Given the description of an element on the screen output the (x, y) to click on. 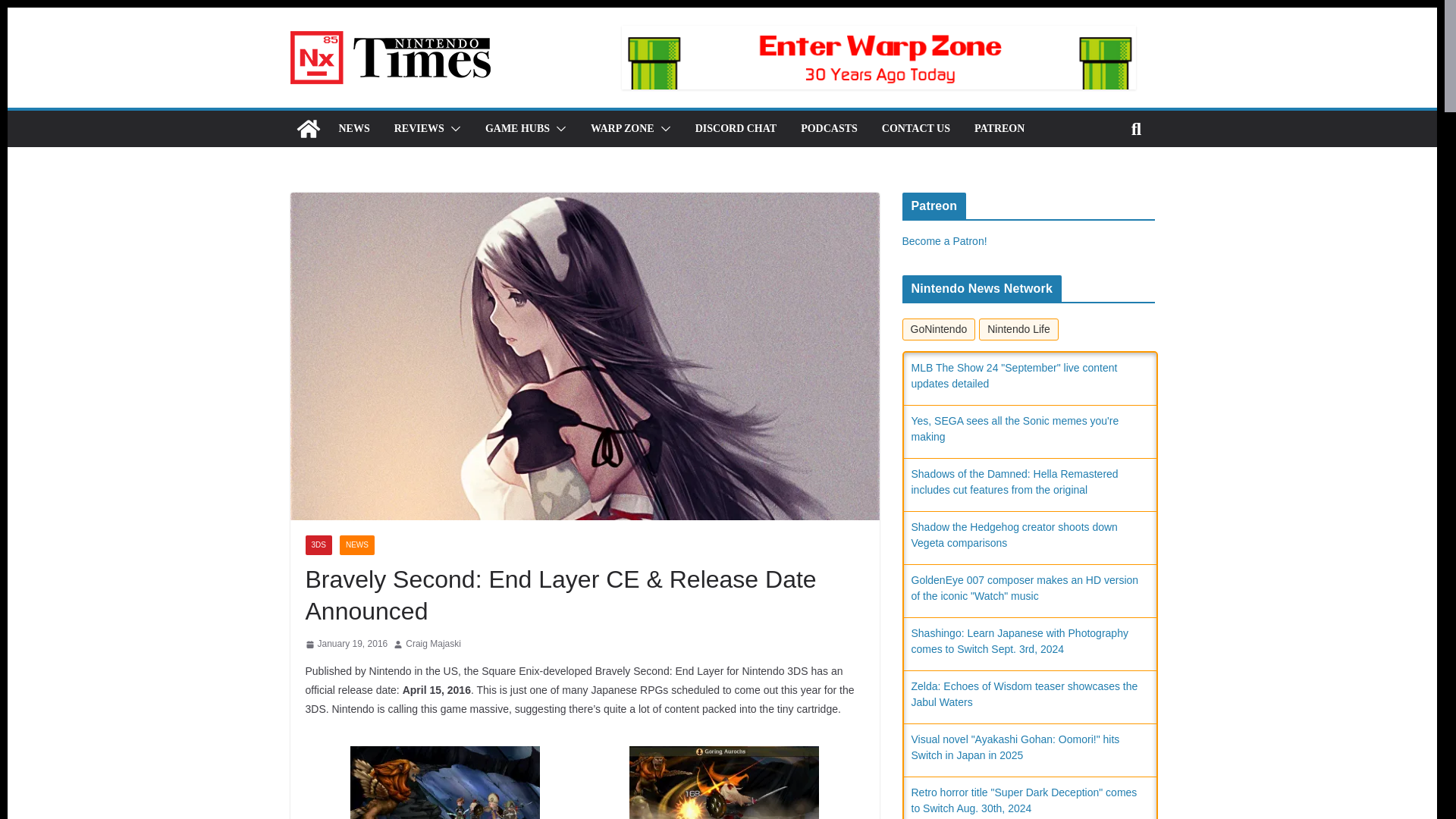
WARP ZONE (622, 128)
NEWS (356, 545)
3DS (317, 545)
Craig Majaski (433, 644)
Nintendo Times (307, 128)
DISCORD CHAT (735, 128)
CONTACT US (916, 128)
Craig Majaski (433, 644)
PODCASTS (828, 128)
